Given the description of an element on the screen output the (x, y) to click on. 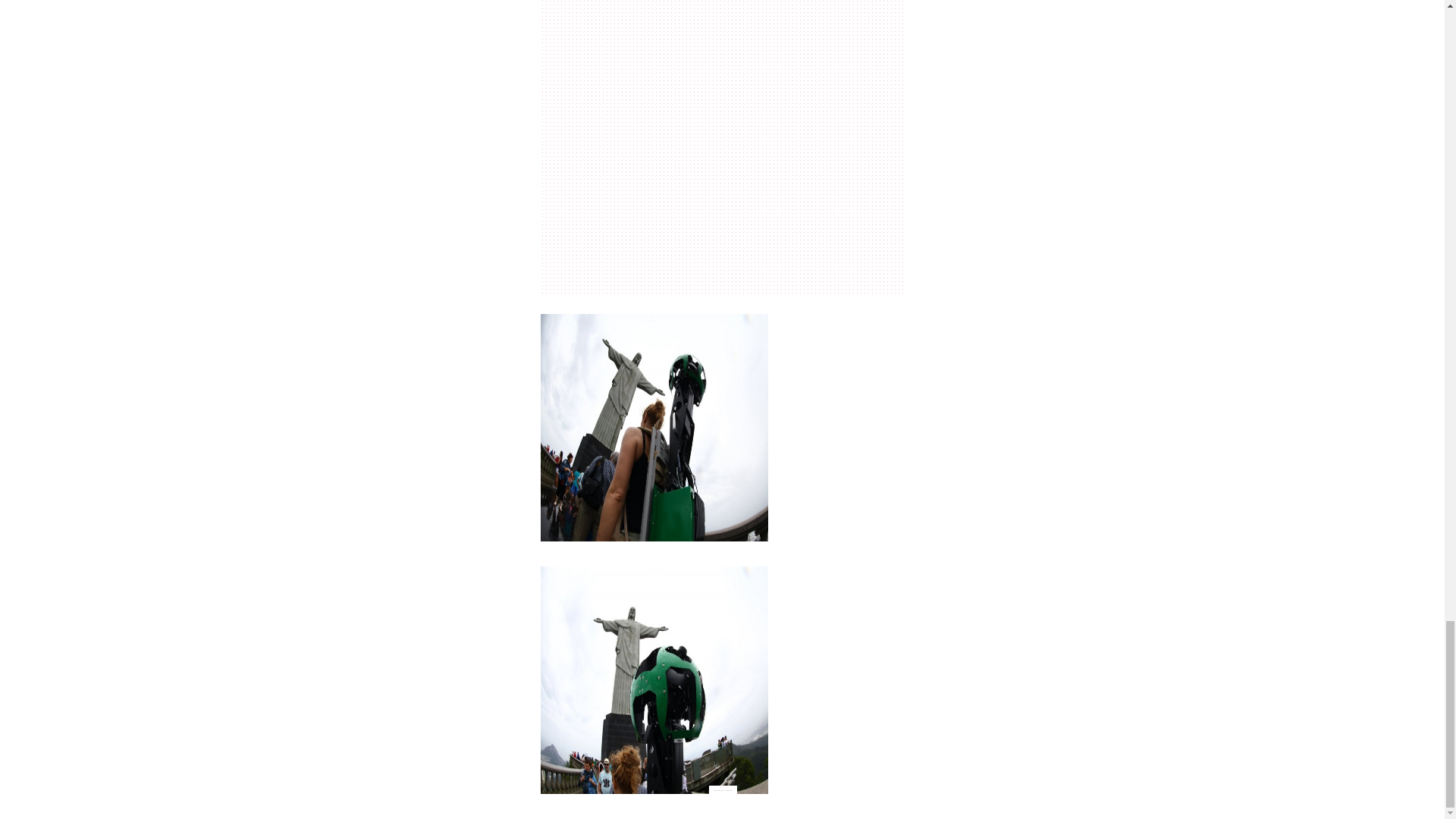
Images of the alleged pac... (721, 790)
